Given the description of an element on the screen output the (x, y) to click on. 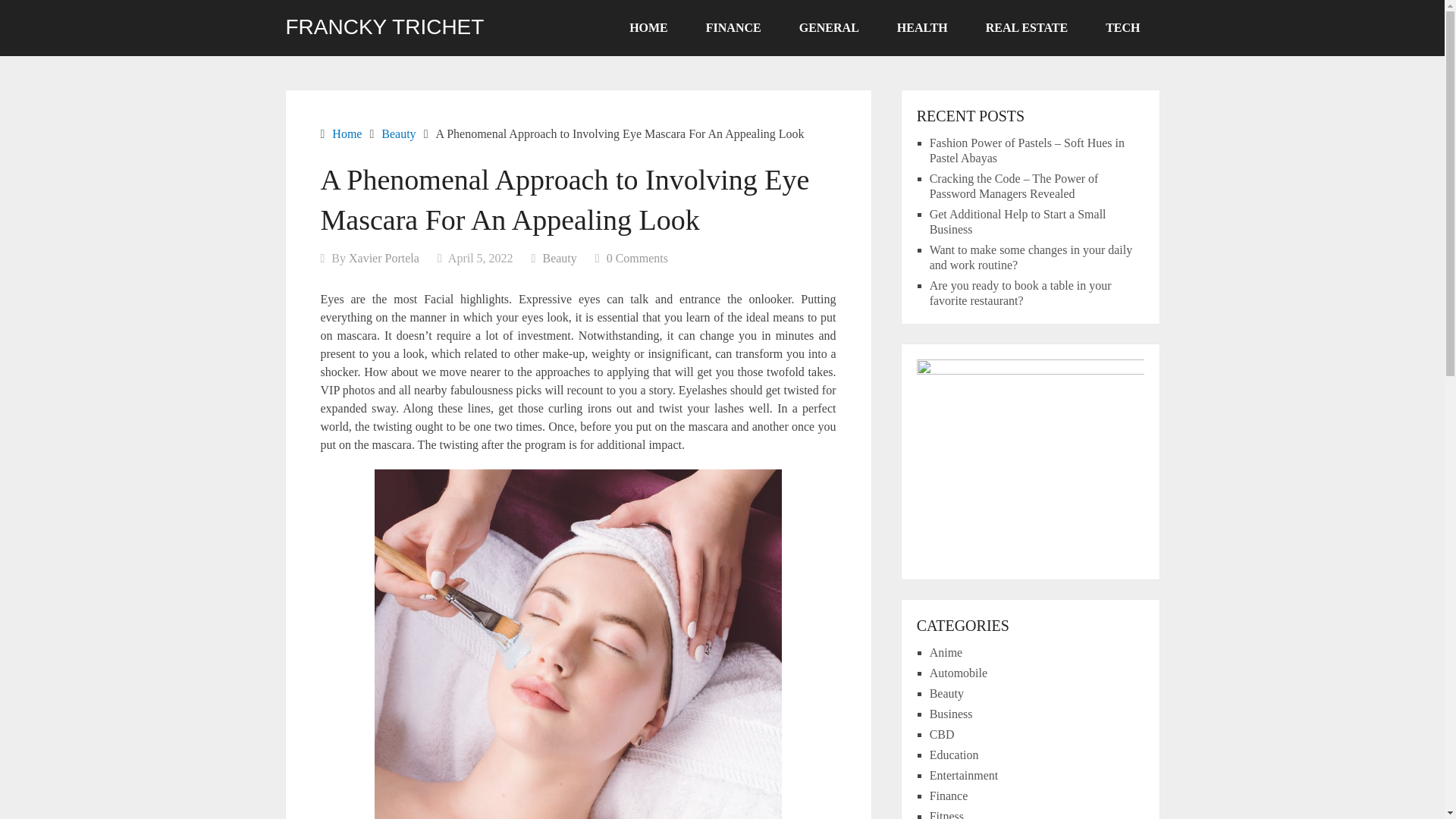
Want to make some changes in your daily and work routine? (1031, 257)
Automobile (958, 672)
Beauty (558, 257)
REAL ESTATE (1026, 28)
GENERAL (828, 28)
Finance (949, 795)
Are you ready to book a table in your favorite restaurant? (1021, 293)
Anime (946, 652)
Home (346, 133)
Posts by Xavier Portela (384, 257)
